Given the description of an element on the screen output the (x, y) to click on. 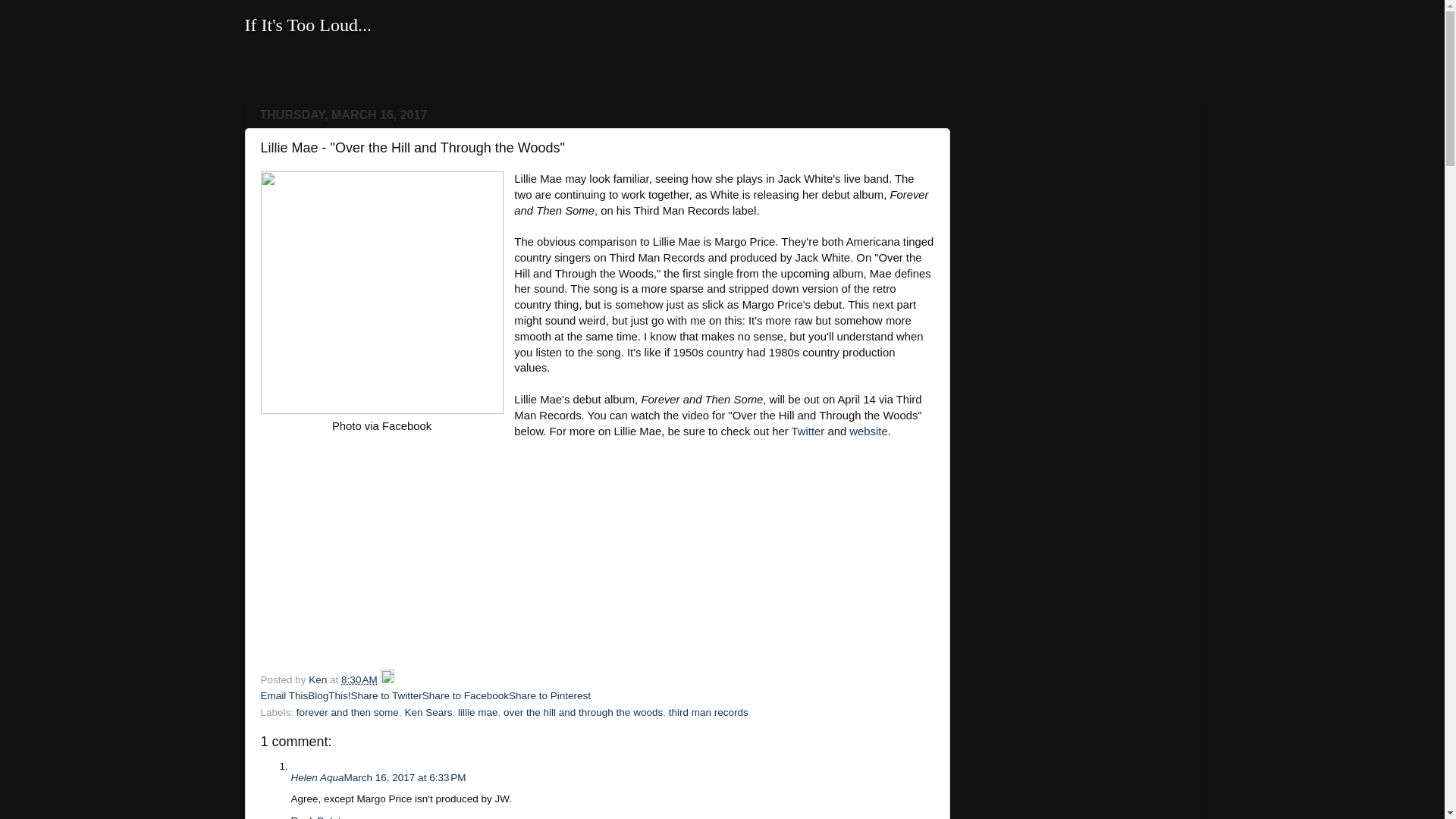
Share to Twitter (386, 695)
Reply (304, 816)
author profile (319, 679)
permanent link (358, 679)
BlogThis! (328, 695)
Share to Twitter (386, 695)
Edit Post (387, 679)
Share to Pinterest (549, 695)
Email This (284, 695)
Email This (284, 695)
lillie mae (477, 712)
over the hill and through the woods (582, 712)
Helen Aqua (317, 777)
